Given the description of an element on the screen output the (x, y) to click on. 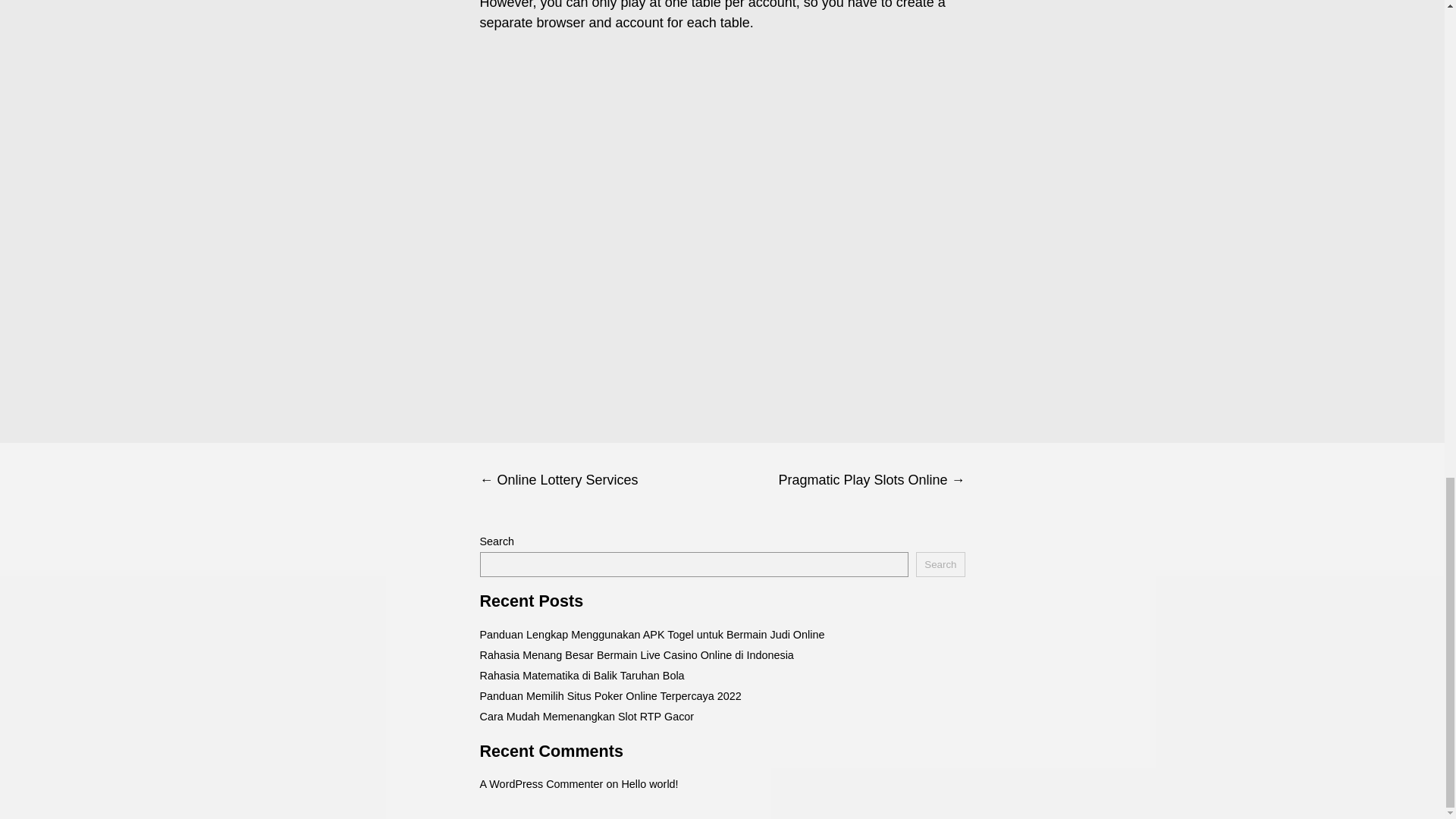
Hello world! (649, 784)
Cara Mudah Memenangkan Slot RTP Gacor (586, 716)
Online Lottery Services (600, 480)
Panduan Memilih Situs Poker Online Terpercaya 2022 (610, 695)
Pragmatic Play Slots Online (842, 480)
A WordPress Commenter (540, 784)
Rahasia Matematika di Balik Taruhan Bola (581, 675)
Search (939, 564)
Rahasia Menang Besar Bermain Live Casino Online di Indonesia (636, 654)
